Given the description of an element on the screen output the (x, y) to click on. 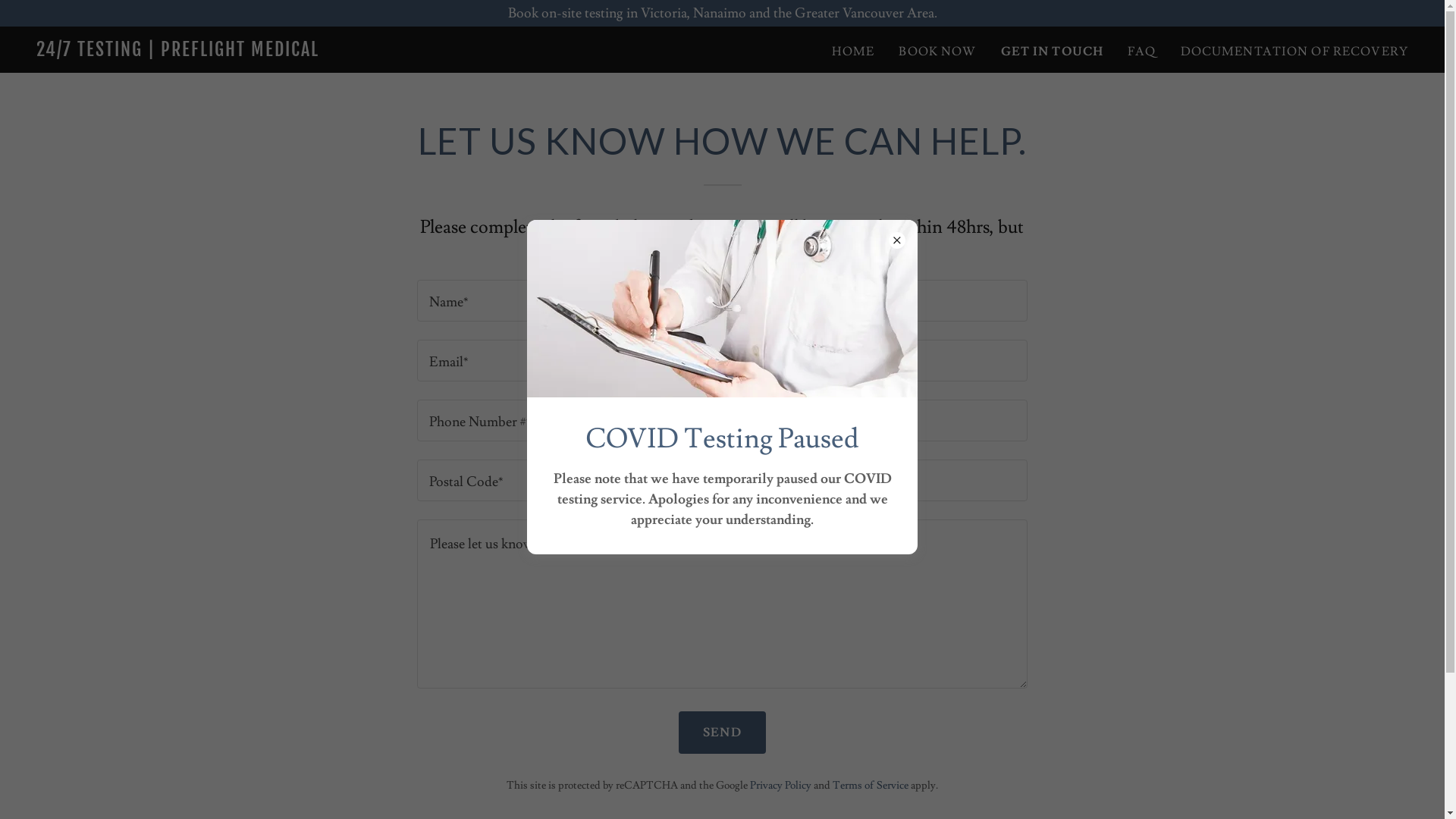
Terms of Service Element type: text (870, 785)
24/7 TESTING | PREFLIGHT MEDICAL Element type: text (276, 51)
SEND Element type: text (721, 732)
FAQ Element type: text (1141, 51)
HOME Element type: text (853, 51)
DOCUMENTATION OF RECOVERY Element type: text (1294, 51)
GET IN TOUCH Element type: text (1052, 51)
BOOK NOW Element type: text (937, 51)
Privacy Policy Element type: text (780, 785)
